Given the description of an element on the screen output the (x, y) to click on. 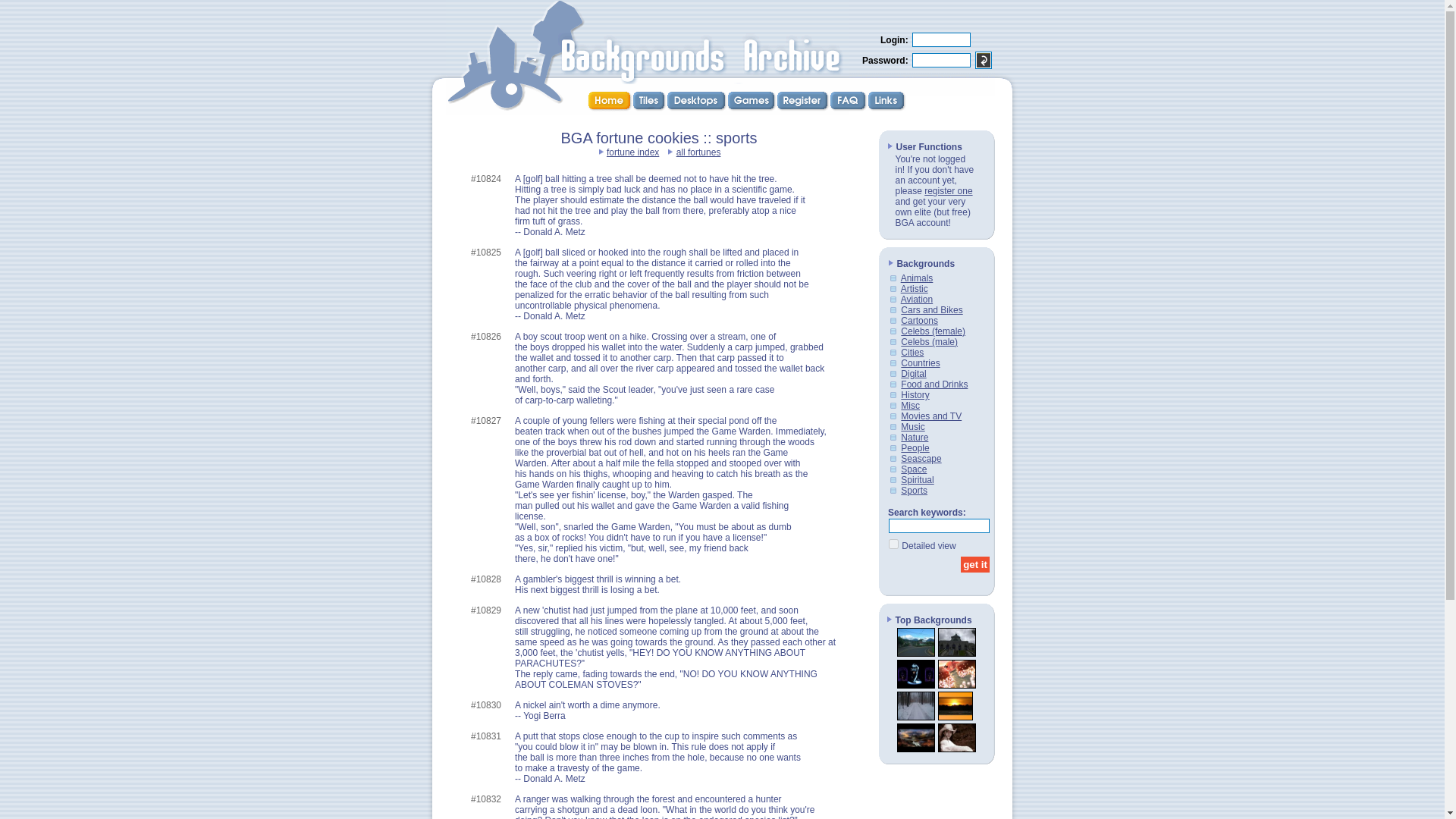
all fortunes (698, 152)
get it (975, 564)
fortune index (633, 152)
on (893, 543)
